Given the description of an element on the screen output the (x, y) to click on. 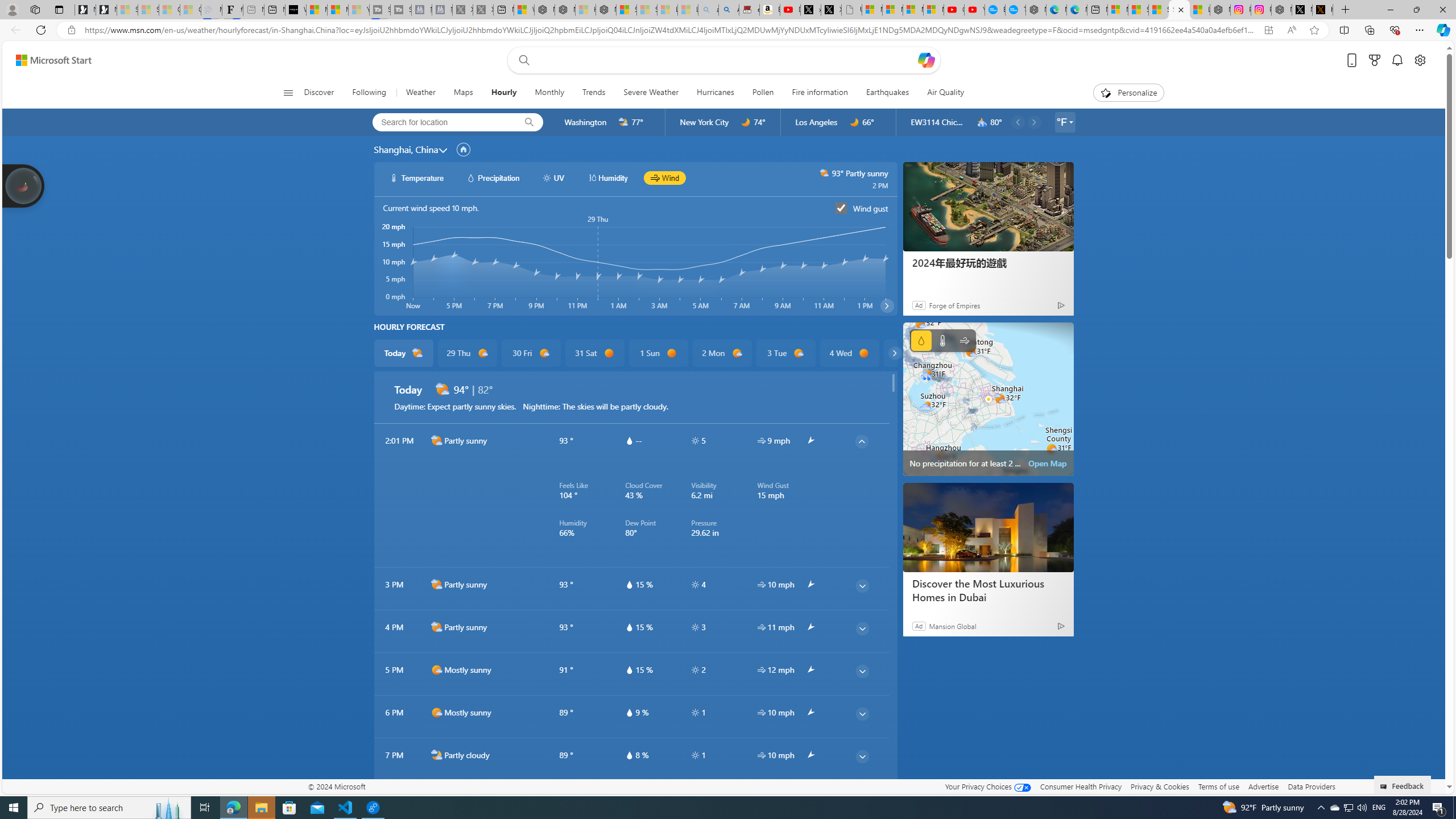
Maps (462, 92)
Open navigation menu (287, 92)
Class: miniMapRadarSVGView-DS-EntryPoint1-1 (988, 398)
Maps (462, 92)
hourlyChart/precipitationWhite (470, 177)
Advertise (1263, 786)
hourlyTable/drop (628, 755)
Microsoft account | Microsoft Account Privacy Settings (1117, 9)
30 Fri d1000 (530, 352)
common/carouselChevron (895, 353)
